Given the description of an element on the screen output the (x, y) to click on. 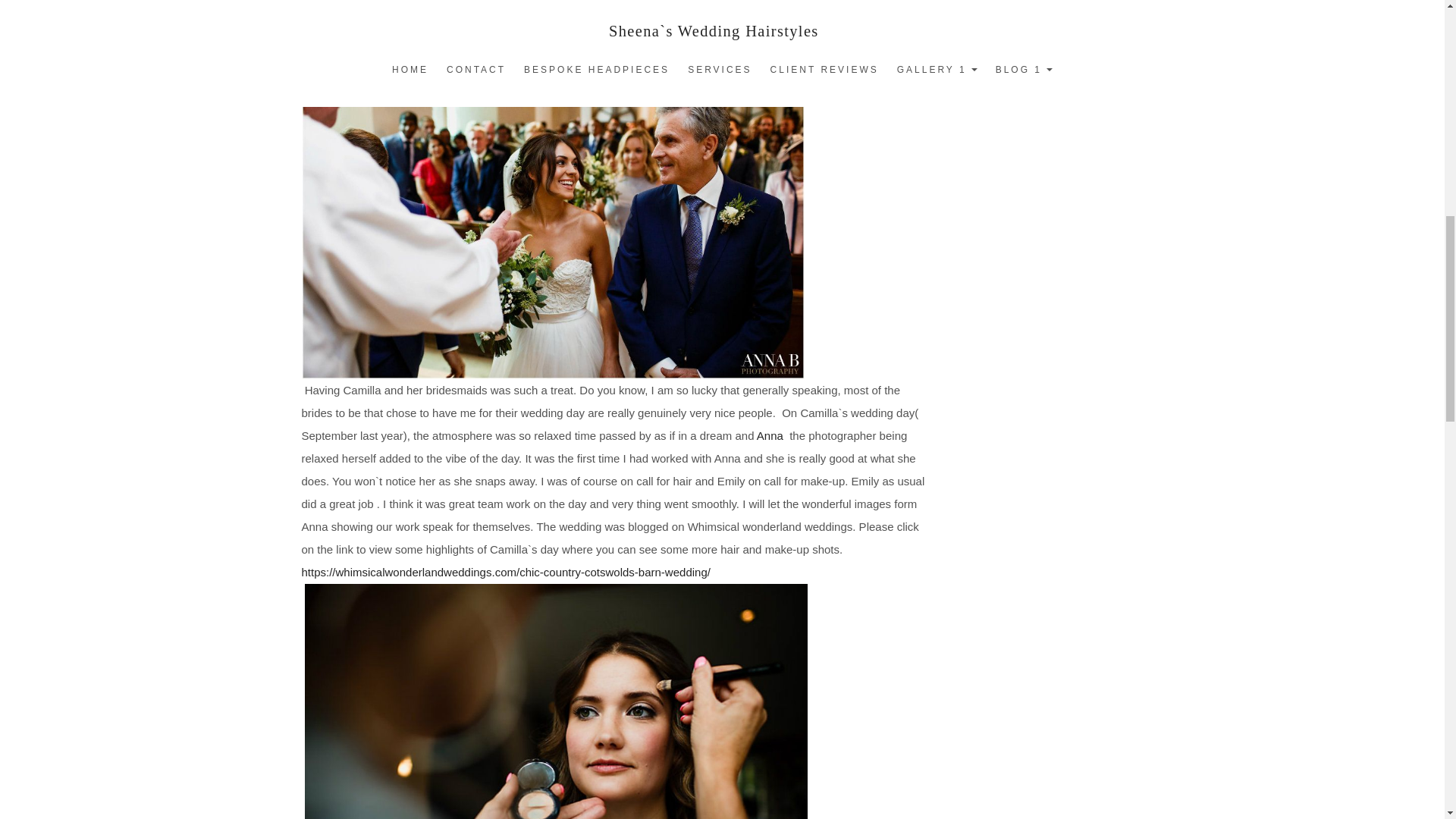
Anna (771, 435)
Wedding-Hair-stylist-Gloucestershire-UK-2018-KML 1.0 (556, 701)
